Given the description of an element on the screen output the (x, y) to click on. 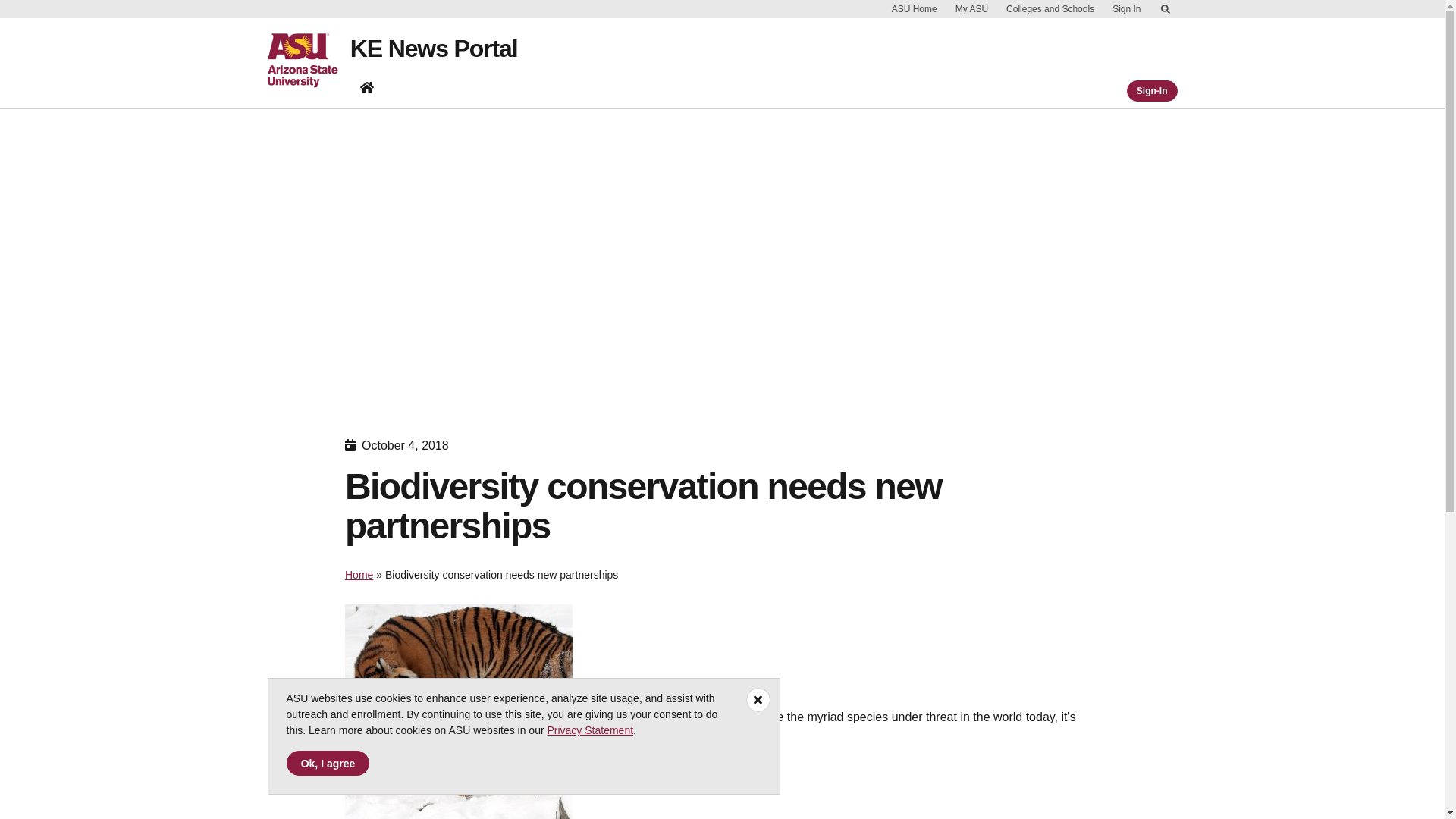
KE News Portal home (366, 87)
Home (358, 574)
ASU home (307, 60)
KE News Portal home (367, 90)
ASU Home (914, 8)
Colleges and Schools (1050, 8)
Sign-In (1151, 90)
Skip to Content (1164, 8)
My ASU (971, 8)
KE News Portal home (366, 87)
